Given the description of an element on the screen output the (x, y) to click on. 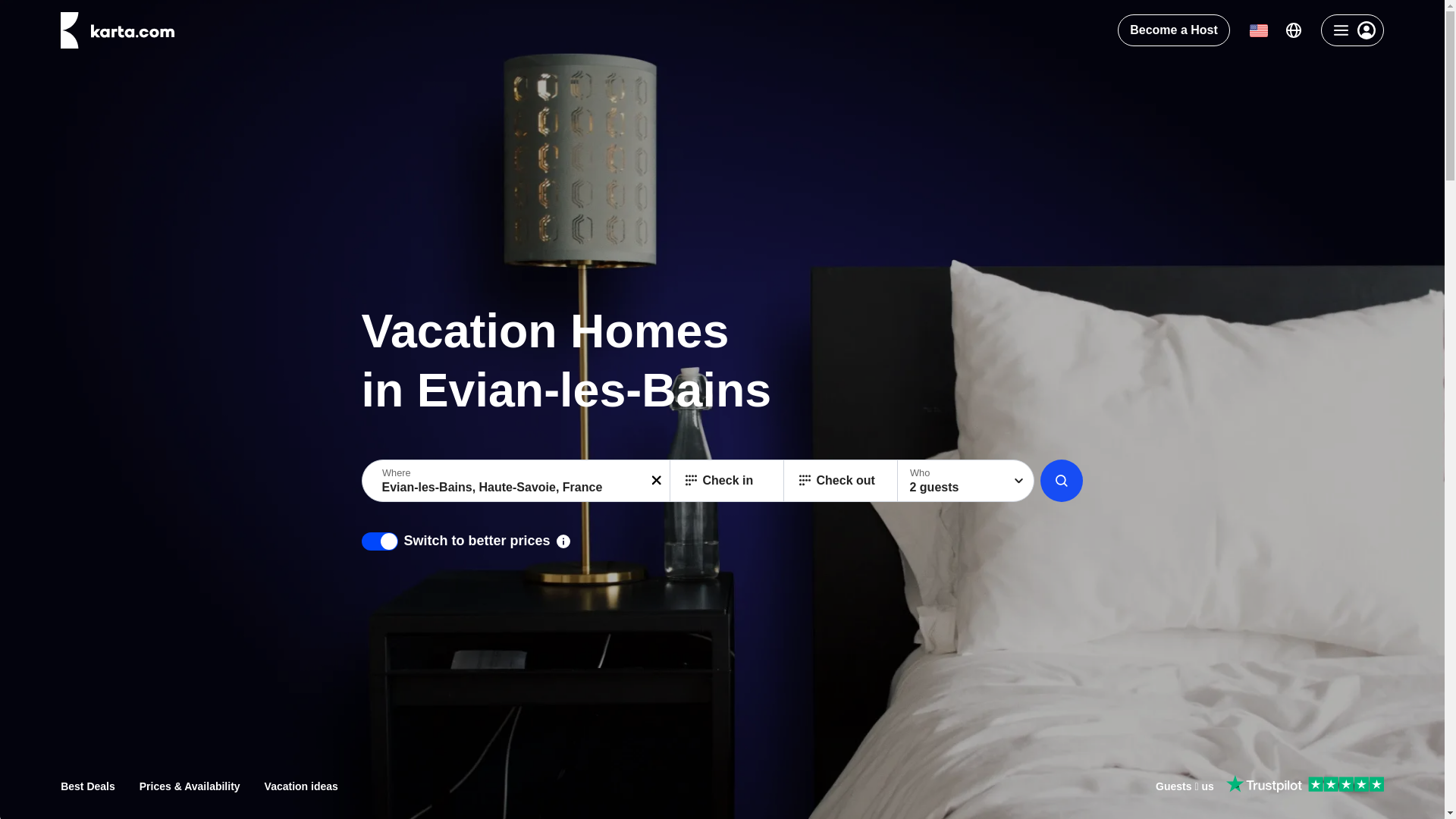
2 guests (966, 480)
Become a Host (1174, 29)
Vacation ideas (300, 785)
2 guests (966, 480)
Best Deals (88, 785)
Evian-les-Bains, Haute-Savoie, France (516, 480)
Evian-les-Bains, Haute-Savoie, France (516, 480)
